Given the description of an element on the screen output the (x, y) to click on. 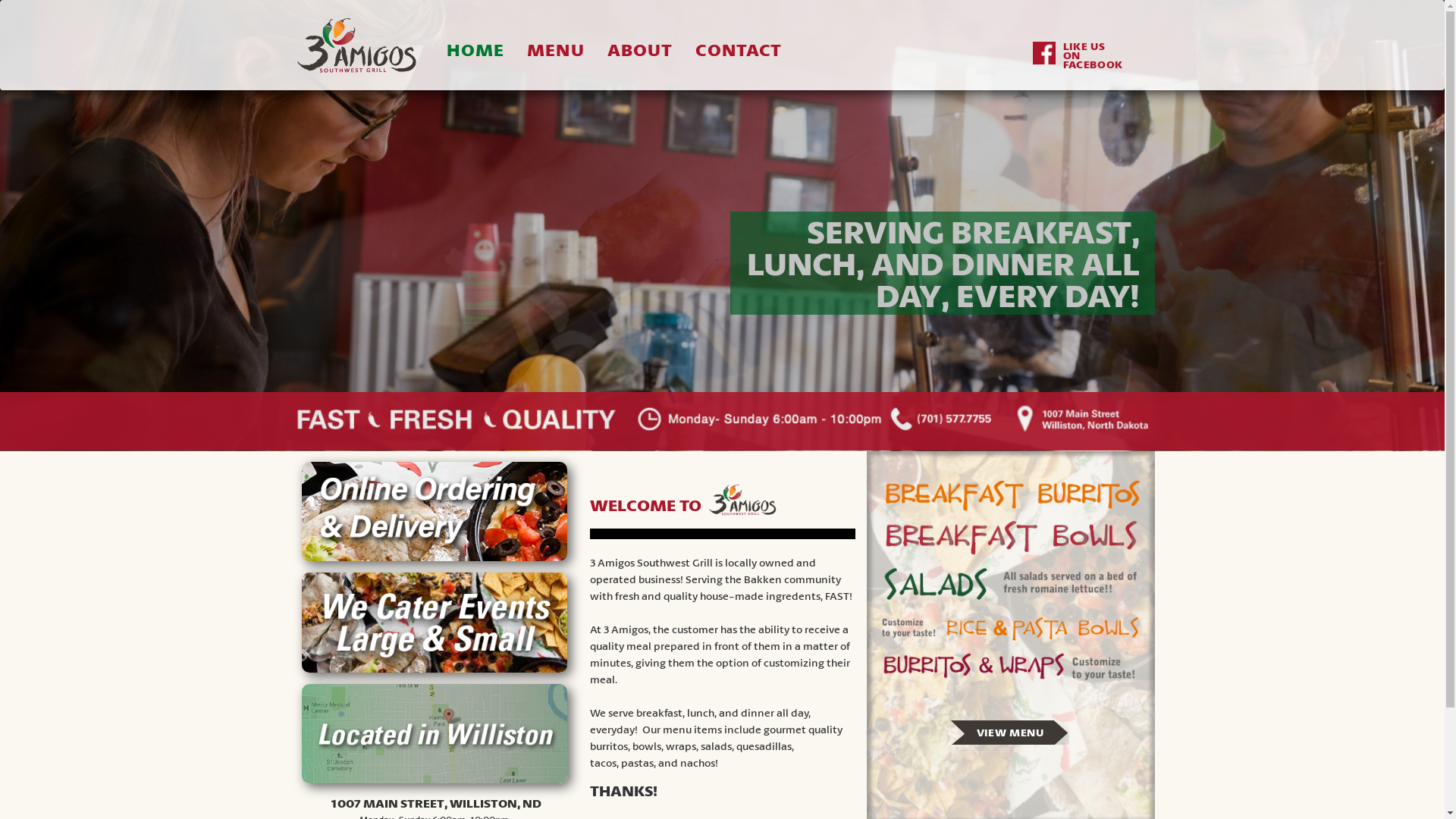
HOME Element type: text (475, 49)
MENU Element type: text (555, 49)
LIKE US
ON FACEBOOK Element type: text (1087, 55)
ABOUT Element type: text (640, 49)
VIEW MENU Element type: text (1010, 732)
CONTACT Element type: text (738, 49)
